Given the description of an element on the screen output the (x, y) to click on. 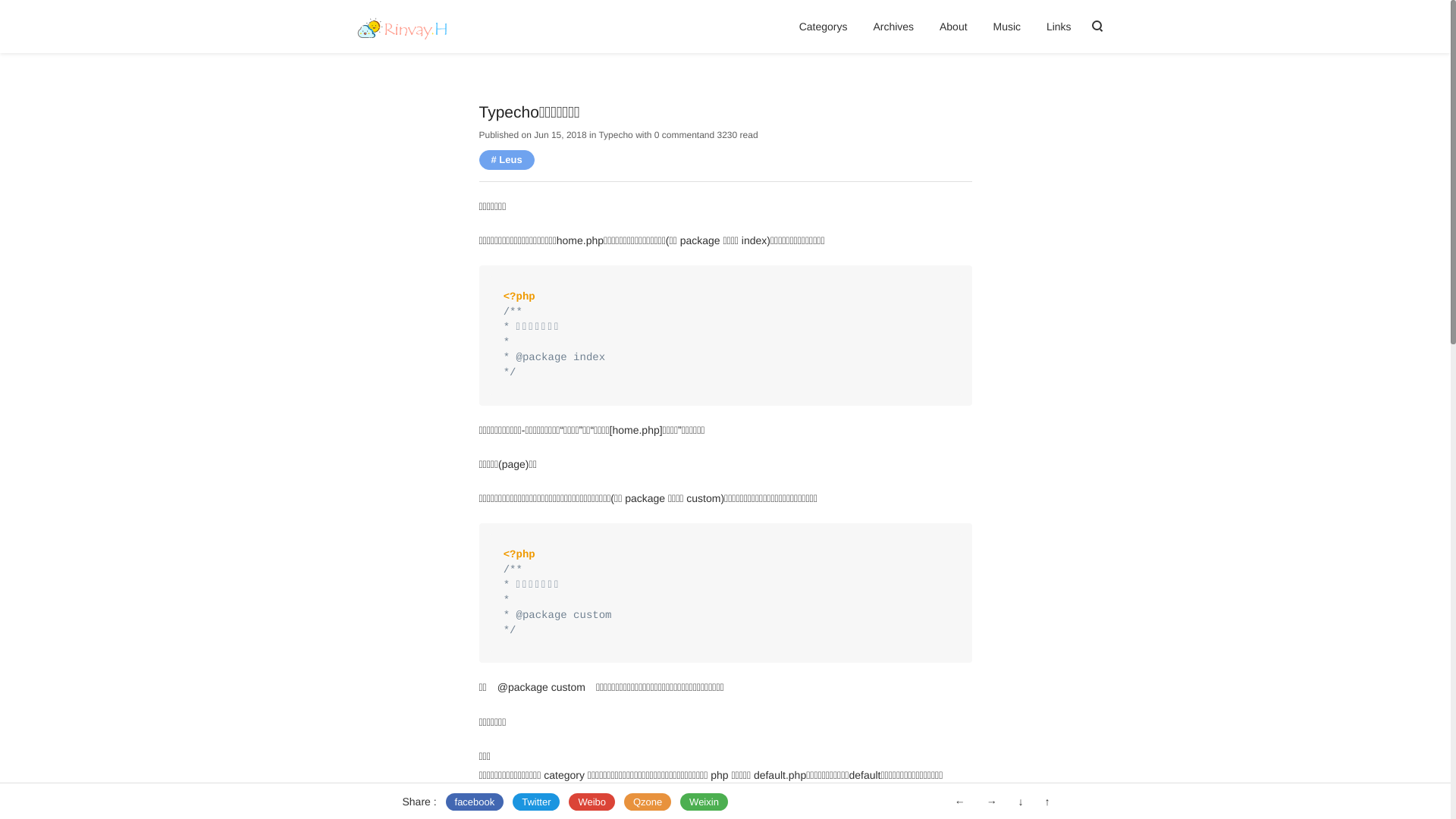
Weibo Element type: text (591, 801)
Categorys Element type: text (823, 26)
About Element type: text (953, 26)
Music Element type: text (1006, 26)
Leus Element type: text (506, 159)
0 commentand 3230 read Element type: text (706, 134)
Twitter Element type: text (535, 801)
facebook Element type: text (474, 801)
Archives Element type: text (893, 26)
Links Element type: text (1058, 26)
Weixin Element type: text (704, 801)
Typecho Element type: text (615, 134)
Qzone Element type: text (647, 801)
